Given the description of an element on the screen output the (x, y) to click on. 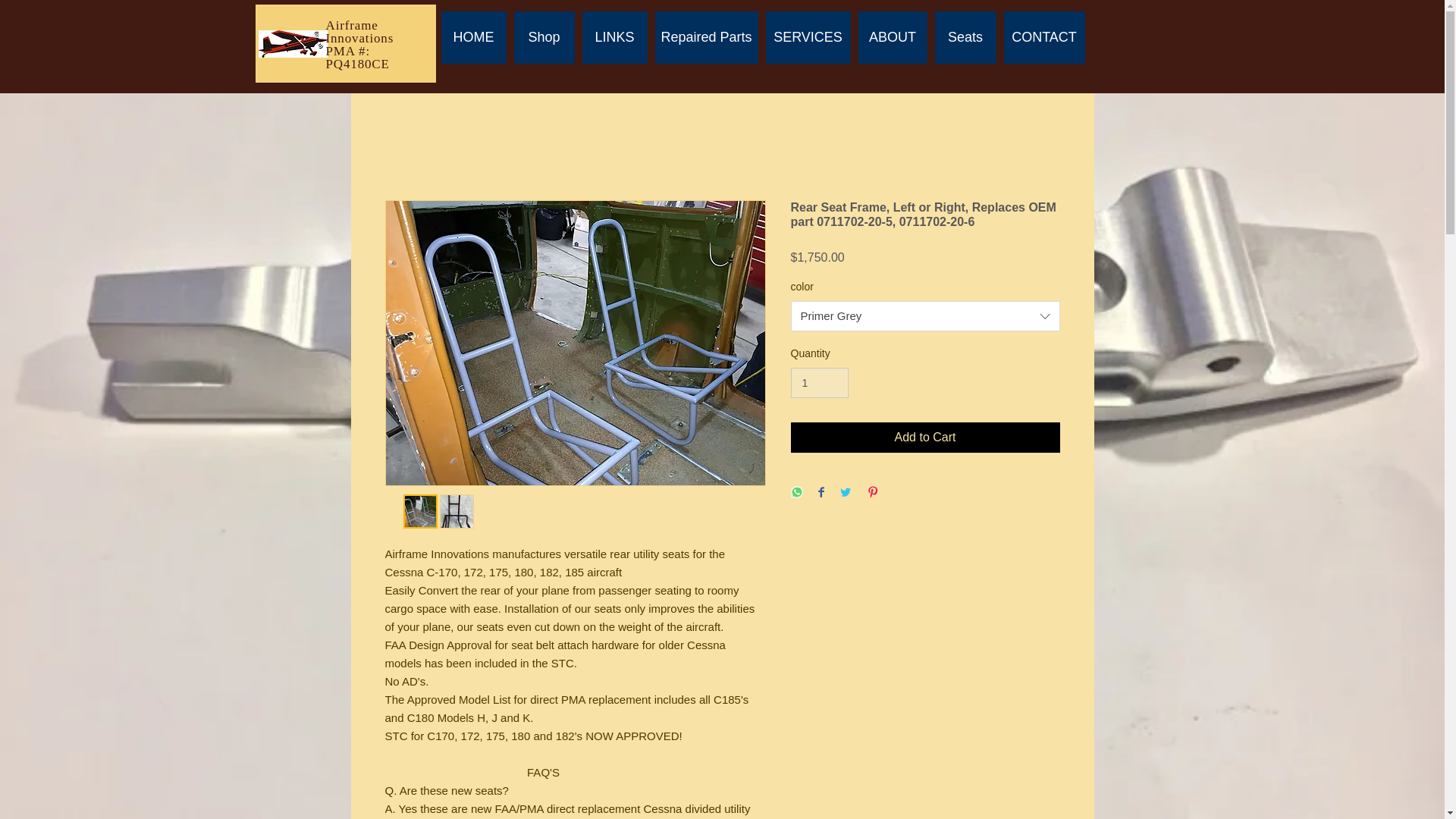
Airframe (352, 25)
ABOUT (893, 37)
LINKS (614, 37)
HOME (473, 37)
Repaired Parts (706, 37)
Seats (964, 37)
Shop (544, 37)
Primer Grey (924, 316)
1 (818, 382)
CONTACT (1044, 37)
